Given the description of an element on the screen output the (x, y) to click on. 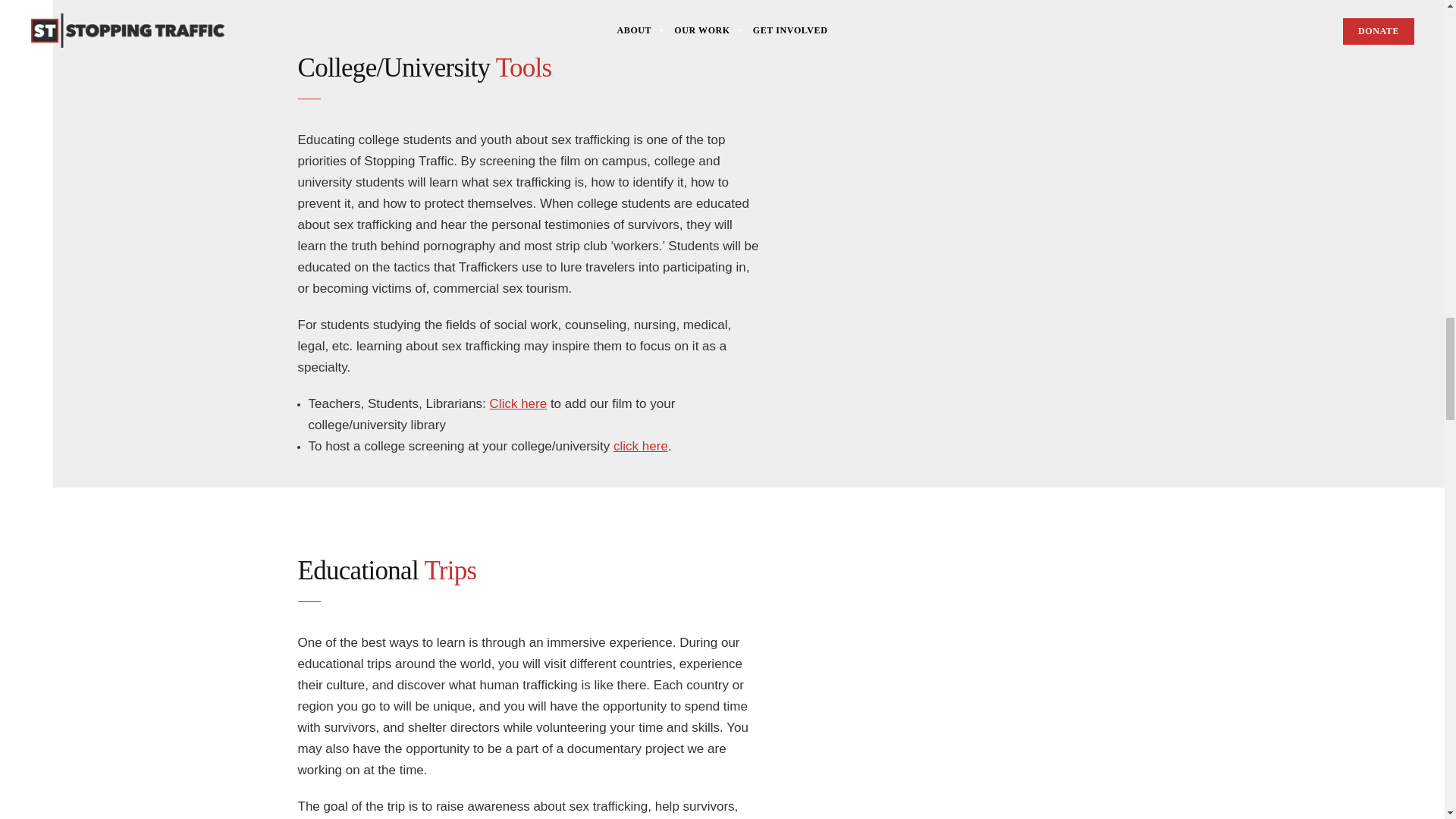
Click here (518, 403)
click here (640, 445)
